Given the description of an element on the screen output the (x, y) to click on. 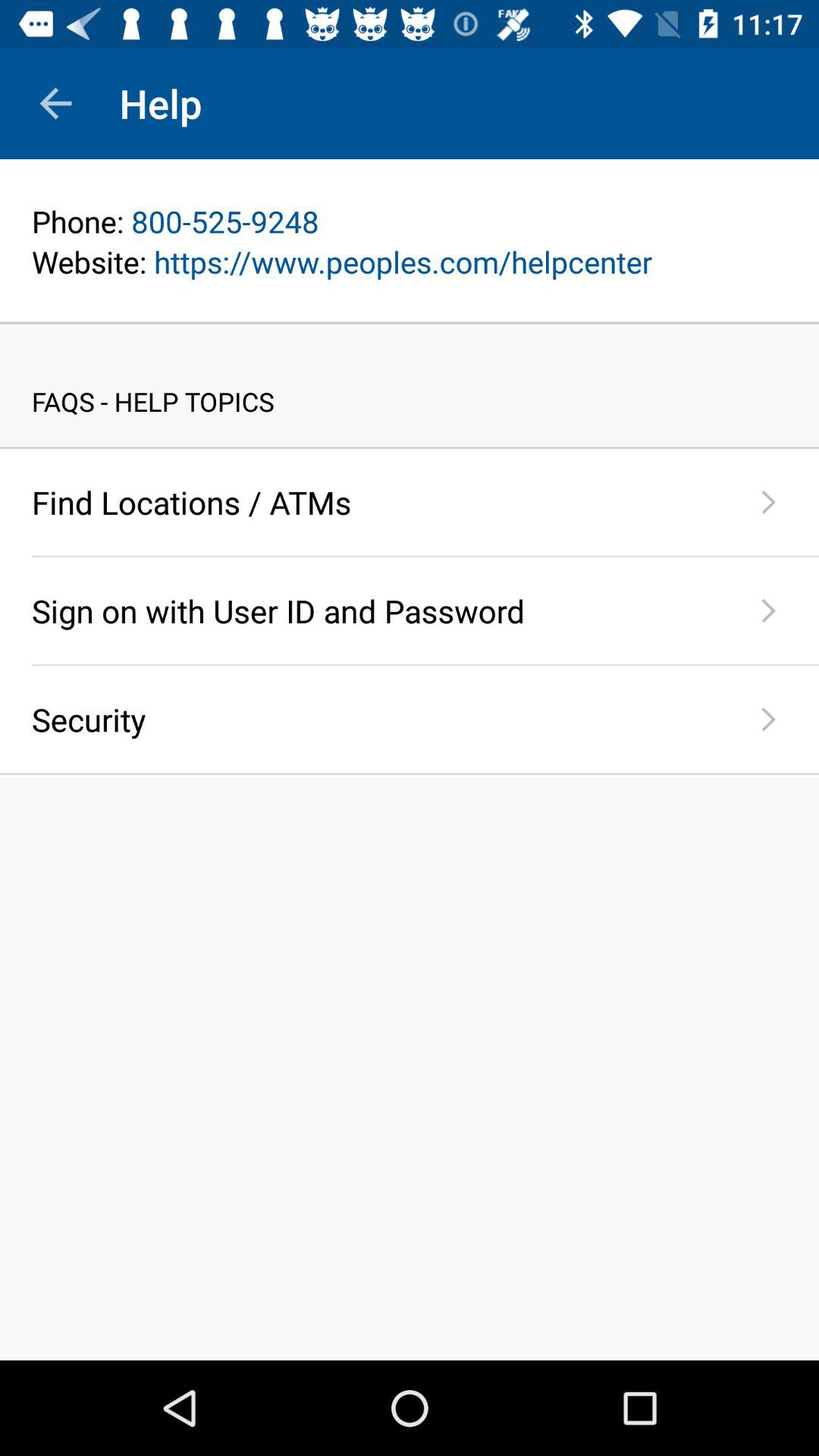
select sign on with app (374, 610)
